Given the description of an element on the screen output the (x, y) to click on. 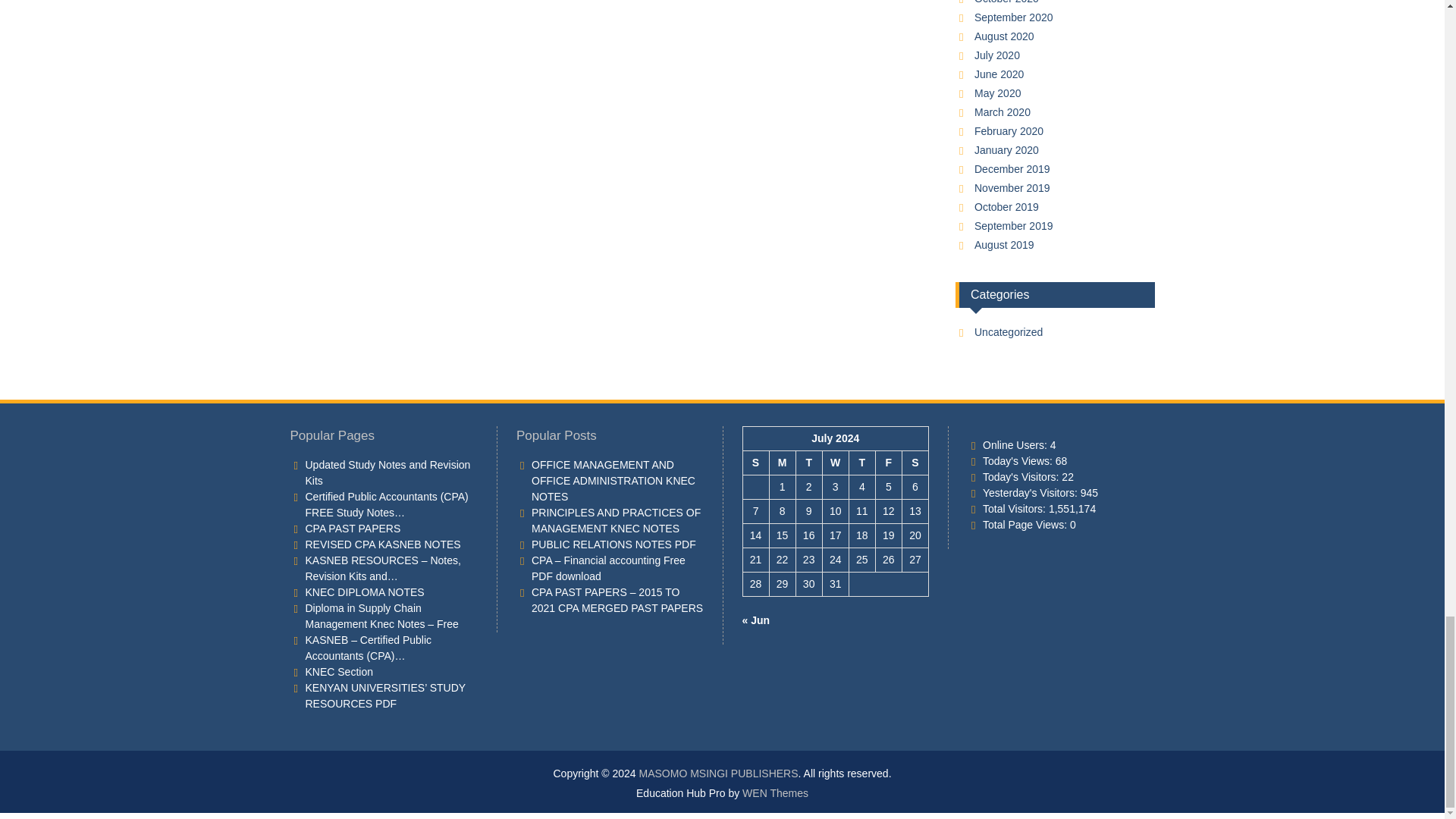
Monday (781, 463)
Thursday (861, 463)
Wednesday (835, 463)
Sunday (755, 463)
Tuesday (808, 463)
Friday (888, 463)
